Given the description of an element on the screen output the (x, y) to click on. 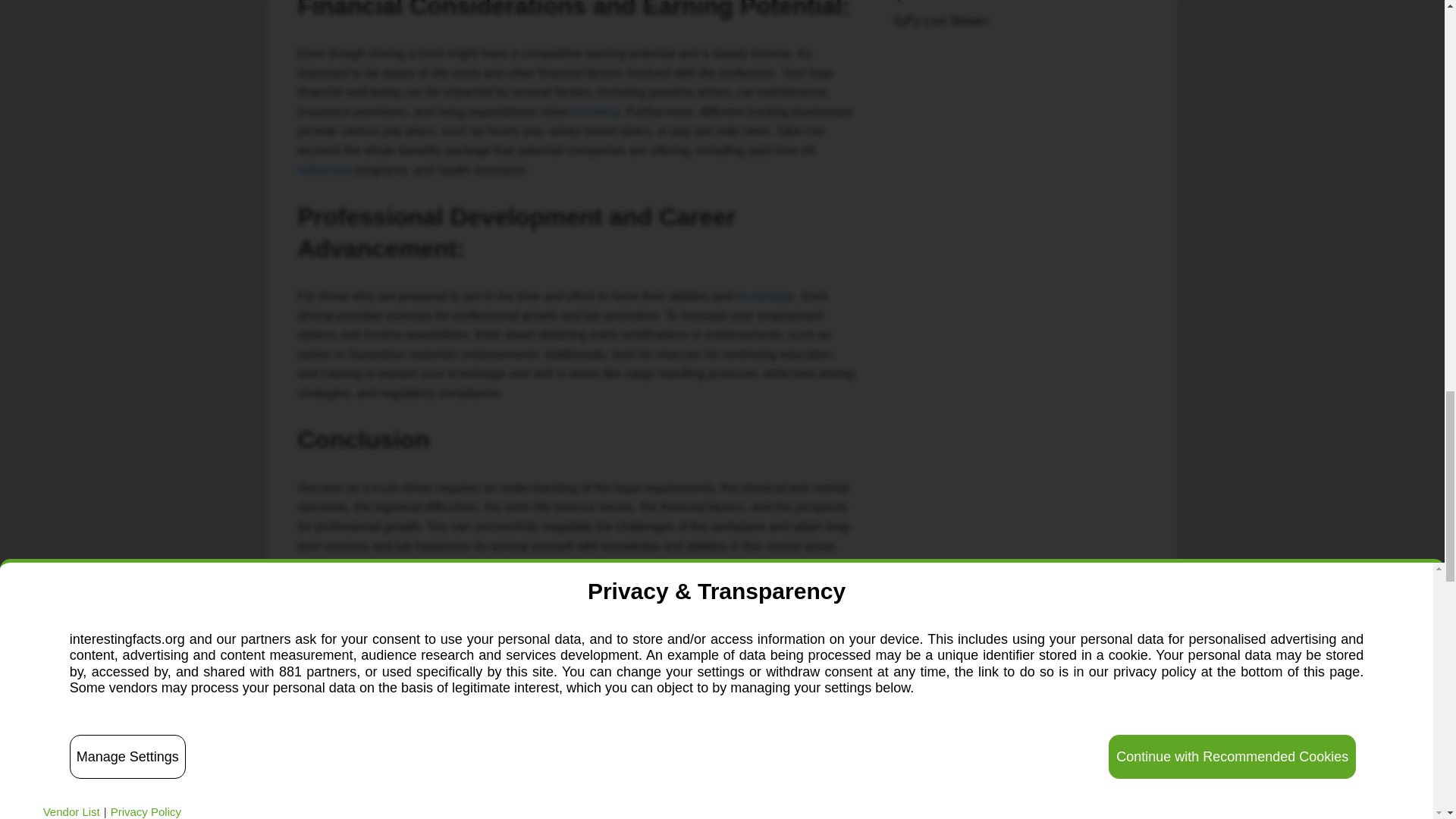
Is It Better To Build or Buy a New Home? (768, 798)
knowledge (765, 295)
Manual vs. Electric Lock Pick Guns: What To Know (377, 798)
retirement (324, 169)
Is It Better To Build or Buy a New Home? (769, 773)
Manual vs. Electric Lock Pick Guns: What To Know (377, 798)
Manual vs. Electric Lock Pick Guns: What To Know (383, 773)
Is It Better To Build or Buy a New Home? (768, 798)
traveling (595, 111)
